Given the description of an element on the screen output the (x, y) to click on. 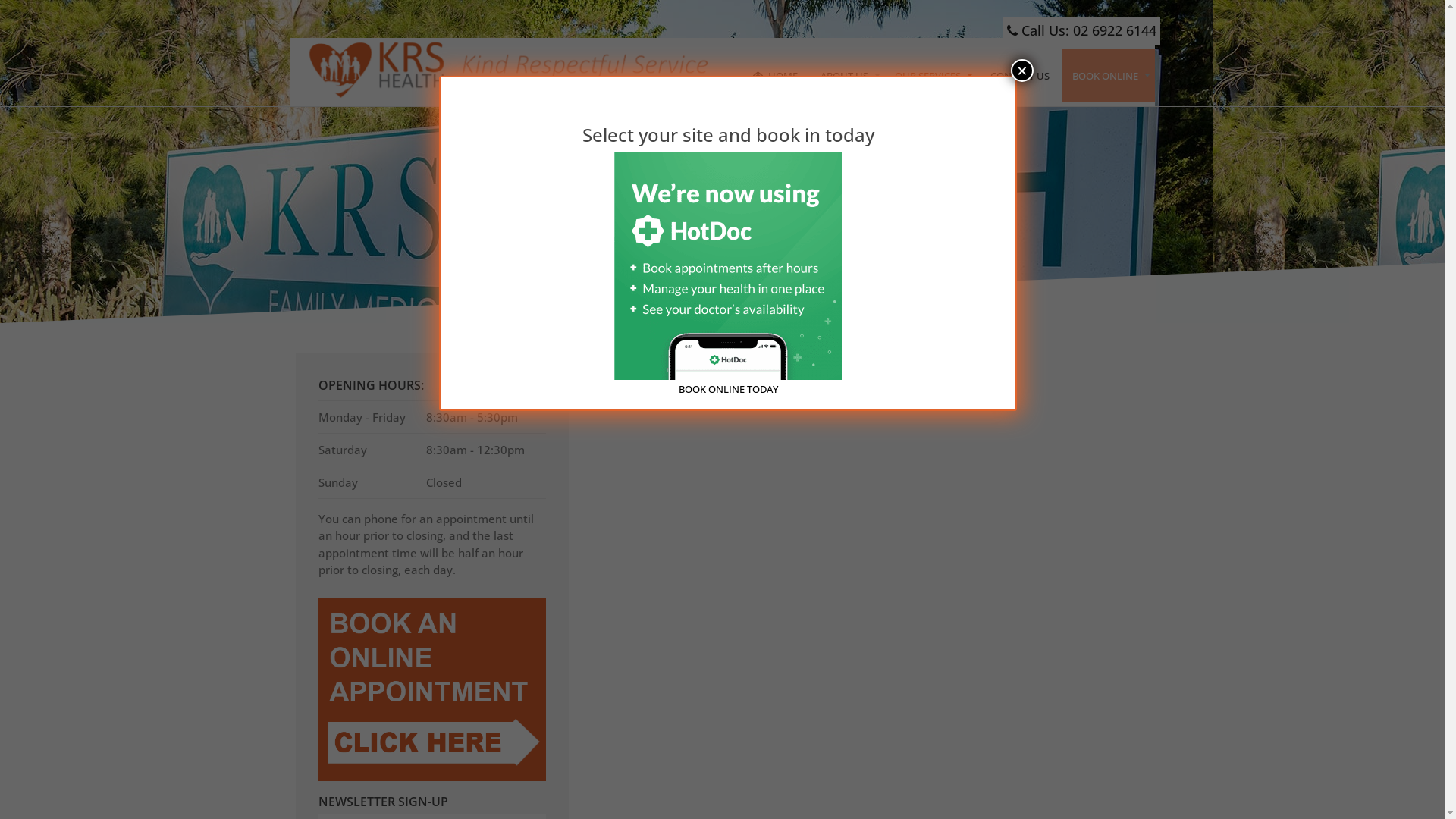
ABOUT US Element type: text (846, 75)
OUR SERVICES Element type: text (930, 75)
Home Element type: text (689, 219)
CONTACT US Element type: text (1018, 75)
BOOK ONLINE Element type: text (1107, 75)
HOME Element type: text (775, 75)
